Given the description of an element on the screen output the (x, y) to click on. 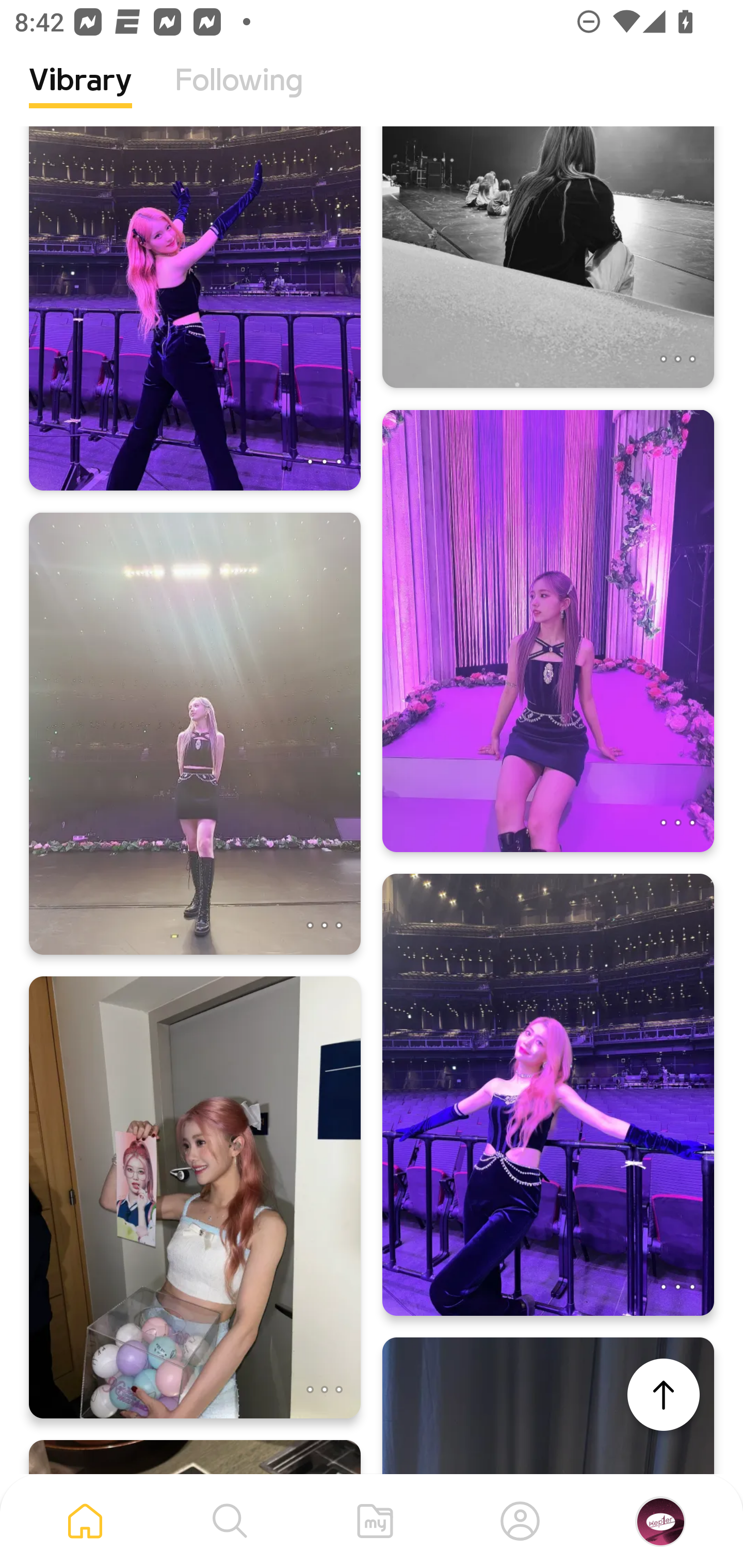
Vibrary (80, 95)
Following (239, 95)
